Given the description of an element on the screen output the (x, y) to click on. 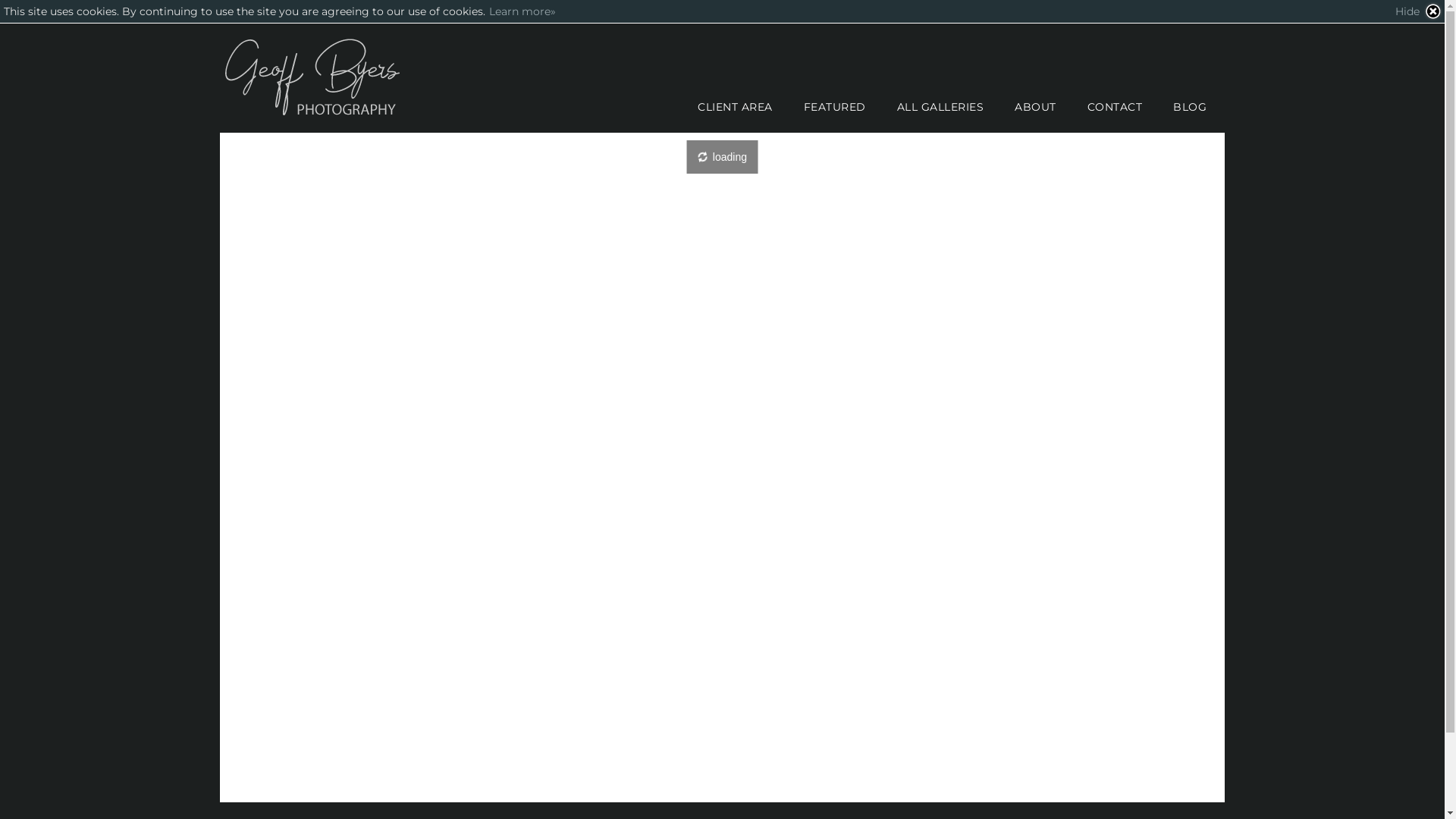
CONTACT Element type: text (1114, 106)
ABOUT Element type: text (1035, 106)
BLOG Element type: text (1189, 106)
FEATURED Element type: text (833, 106)
Hide Element type: text (1418, 11)
CLIENT AREA Element type: text (735, 106)
Geoff Byers Photography Element type: hover (314, 77)
ALL GALLERIES Element type: text (940, 106)
